Given the description of an element on the screen output the (x, y) to click on. 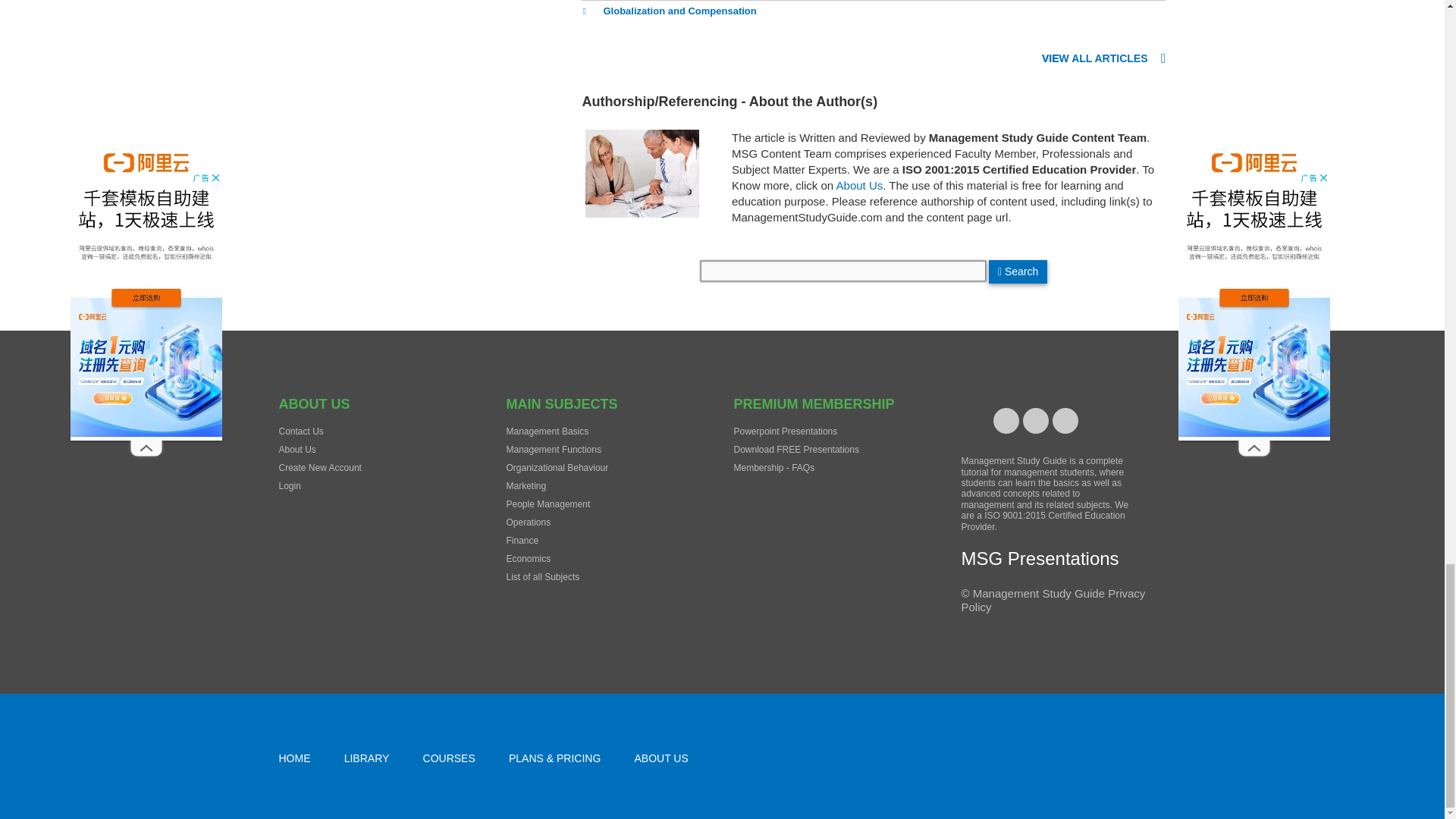
VIEW ALL ARTICLES (1104, 58)
Globalization and Compensation (667, 11)
Executive Compensation (650, 0)
This page contains information on Executive Compensation (650, 0)
About Us (859, 185)
